Given the description of an element on the screen output the (x, y) to click on. 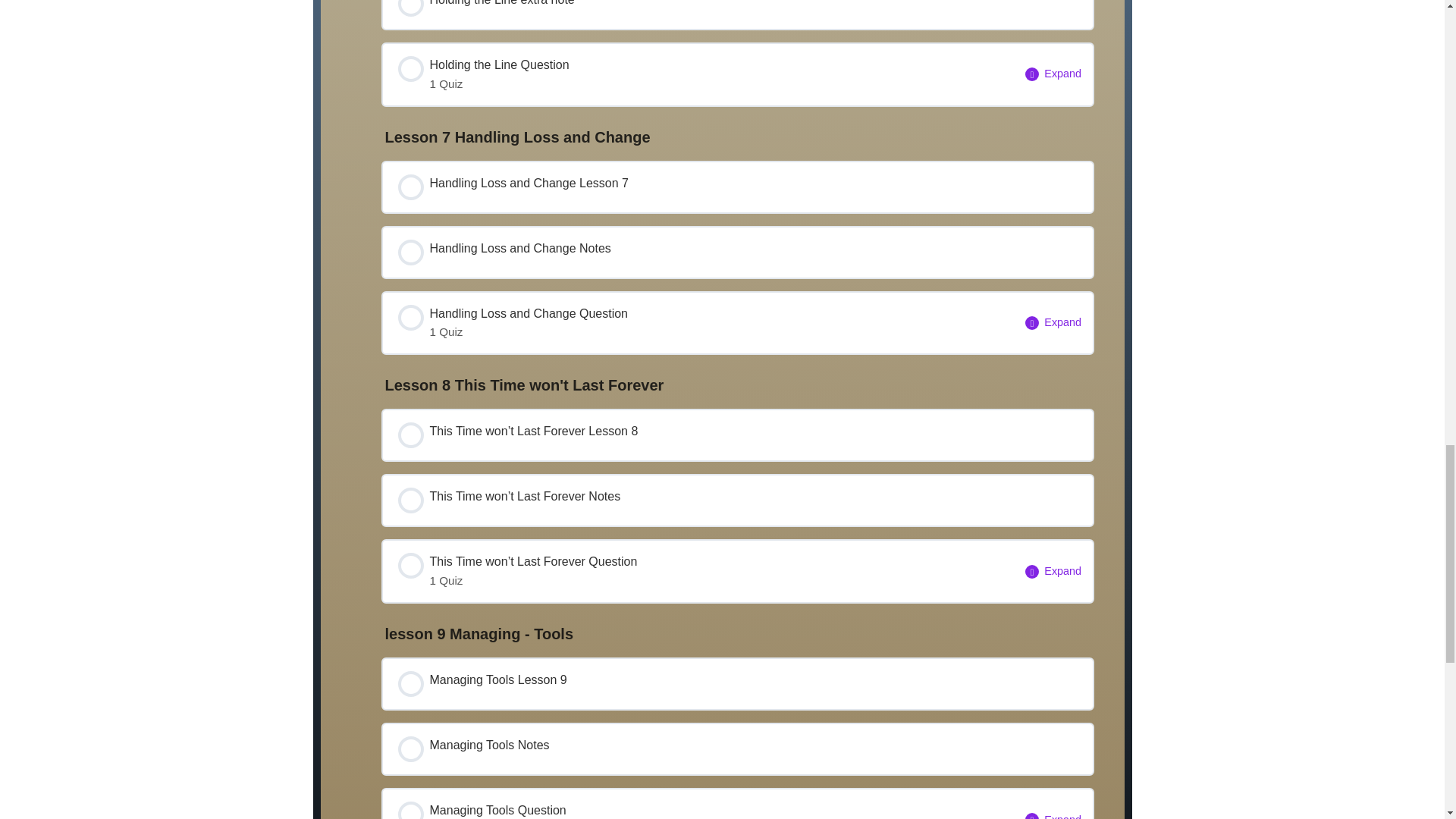
Managing Tools Notes (736, 748)
Handling Loss and Change Notes (736, 252)
Holding the Line extra note (697, 804)
Managing Tools Lesson 9 (736, 14)
Handling Loss and Change Lesson 7 (697, 74)
